Given the description of an element on the screen output the (x, y) to click on. 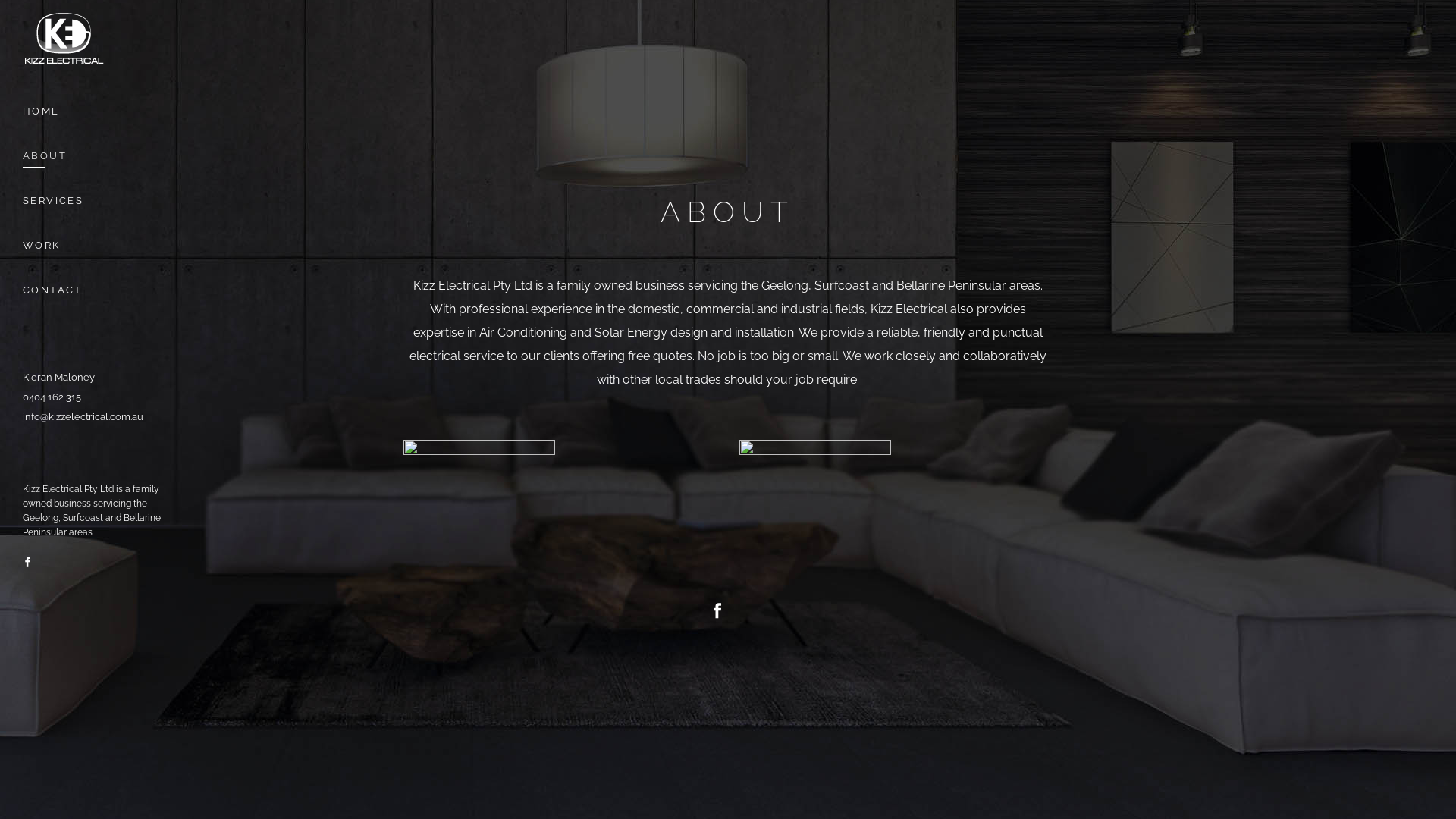
SERVICES Element type: text (98, 200)
CONTACT Element type: text (98, 289)
WORK Element type: text (98, 244)
ABOUT Element type: text (98, 155)
HOME Element type: text (98, 110)
